Given the description of an element on the screen output the (x, y) to click on. 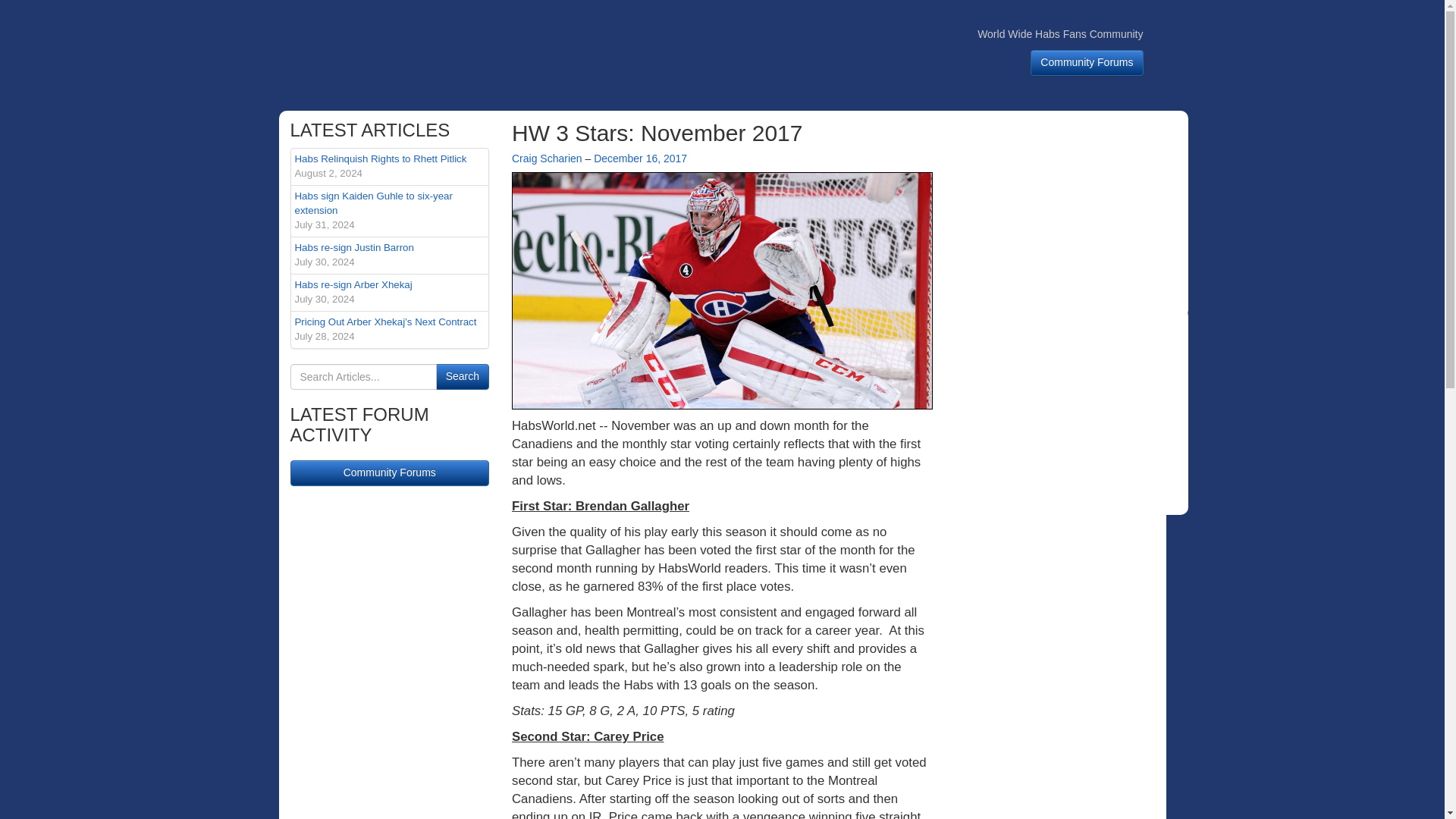
Community Forums (390, 166)
Community Forums (389, 473)
Search (1086, 62)
Search (390, 255)
Craig Scharien (390, 210)
December 16, 2017 (462, 376)
